Given the description of an element on the screen output the (x, y) to click on. 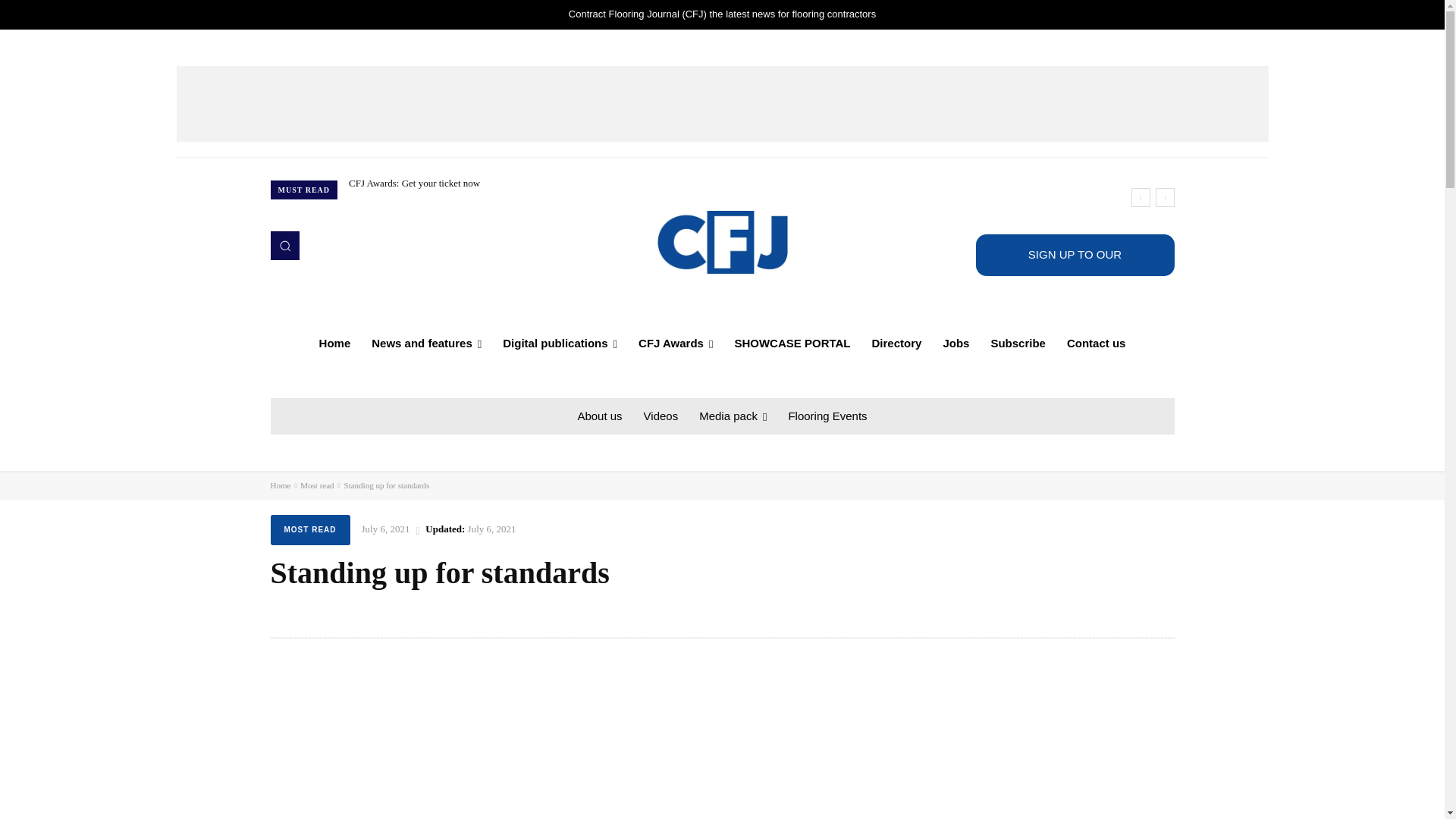
SIGN UP TO OUR NEWSLETTER (1074, 255)
CFJ Awards: Get your ticket now (414, 183)
View all posts in Most read (316, 484)
